Given the description of an element on the screen output the (x, y) to click on. 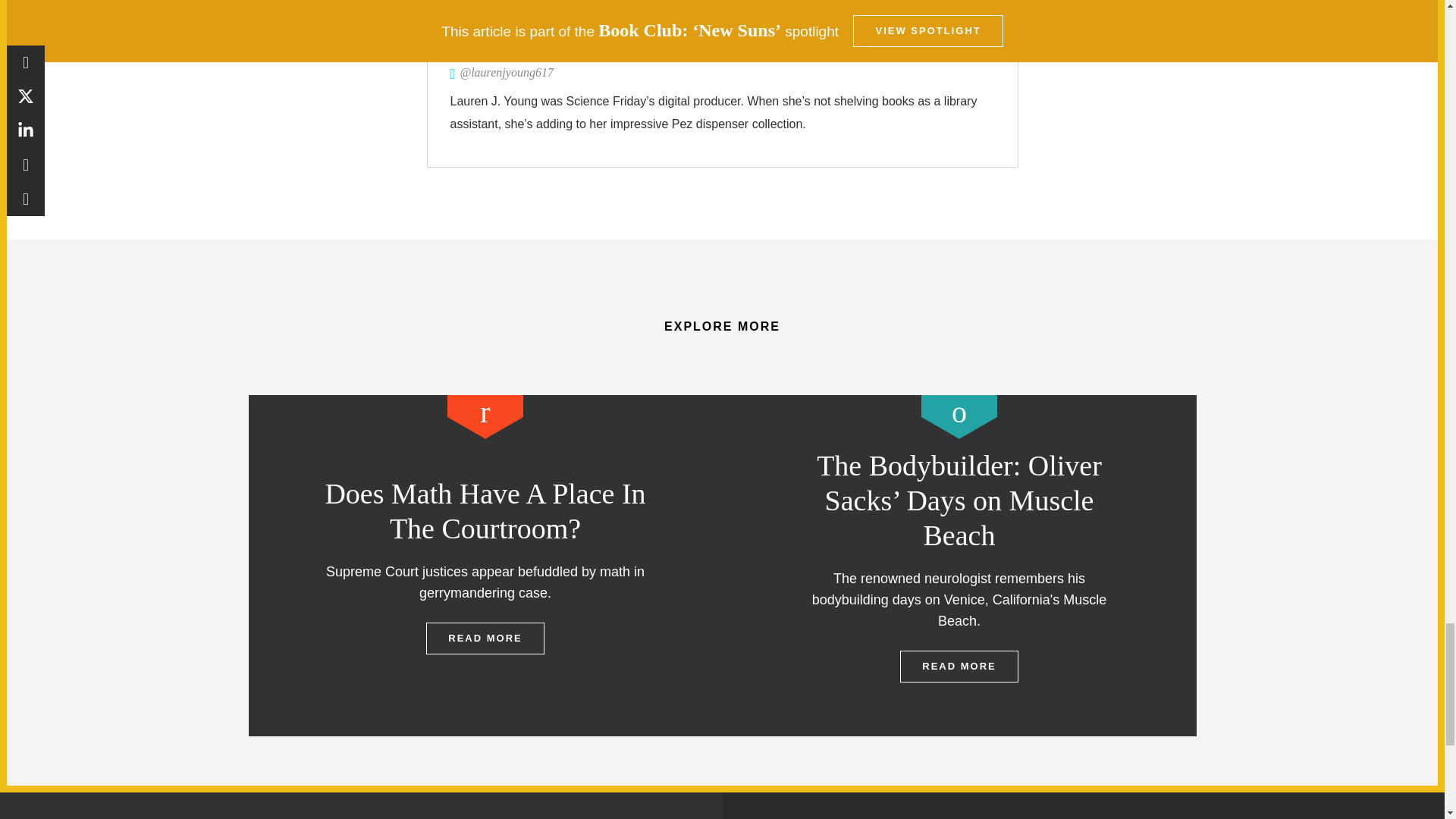
Read More (484, 638)
Segment (484, 415)
